Given the description of an element on the screen output the (x, y) to click on. 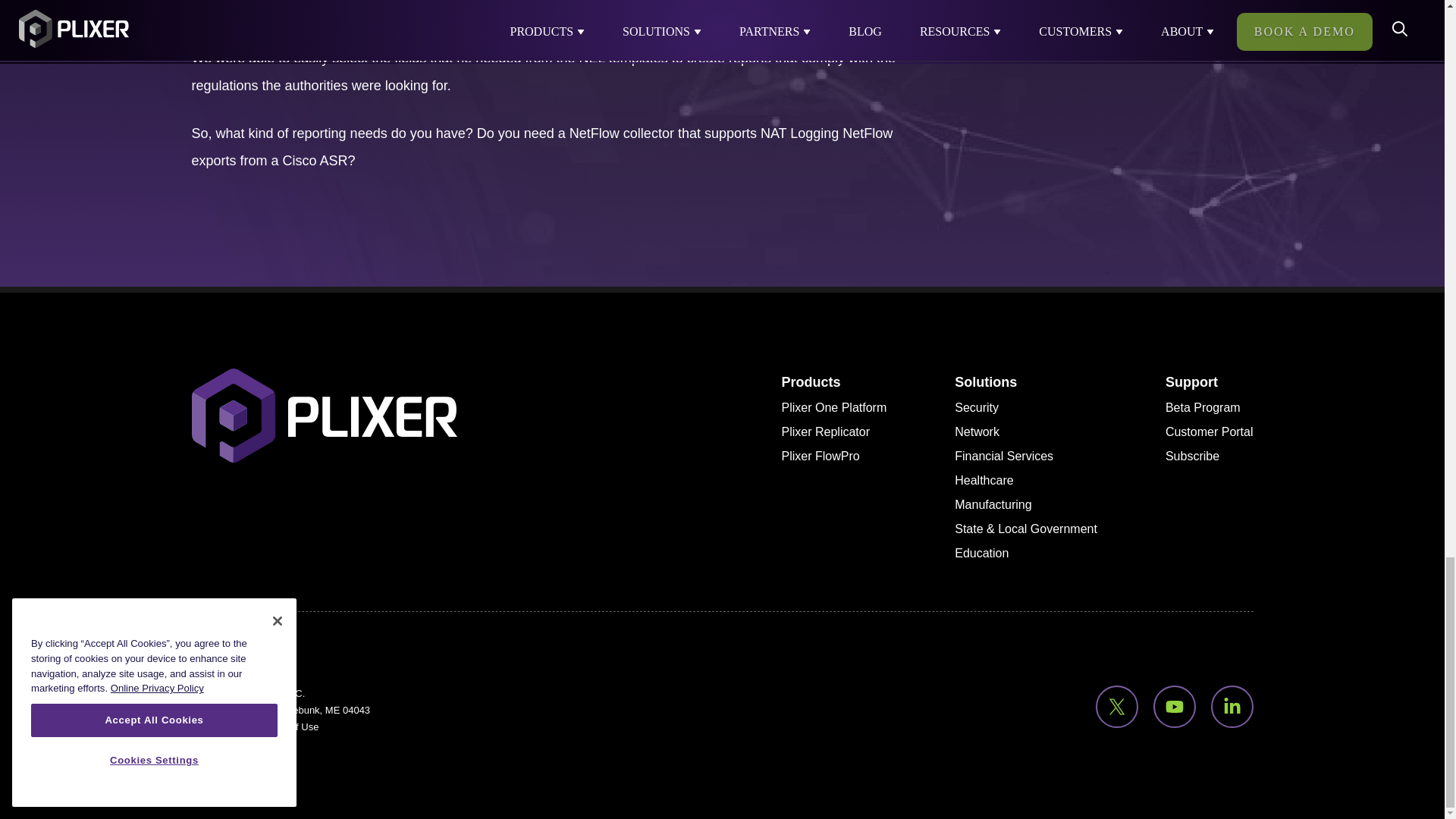
Advanced Network Report Designer (366, 12)
